Given the description of an element on the screen output the (x, y) to click on. 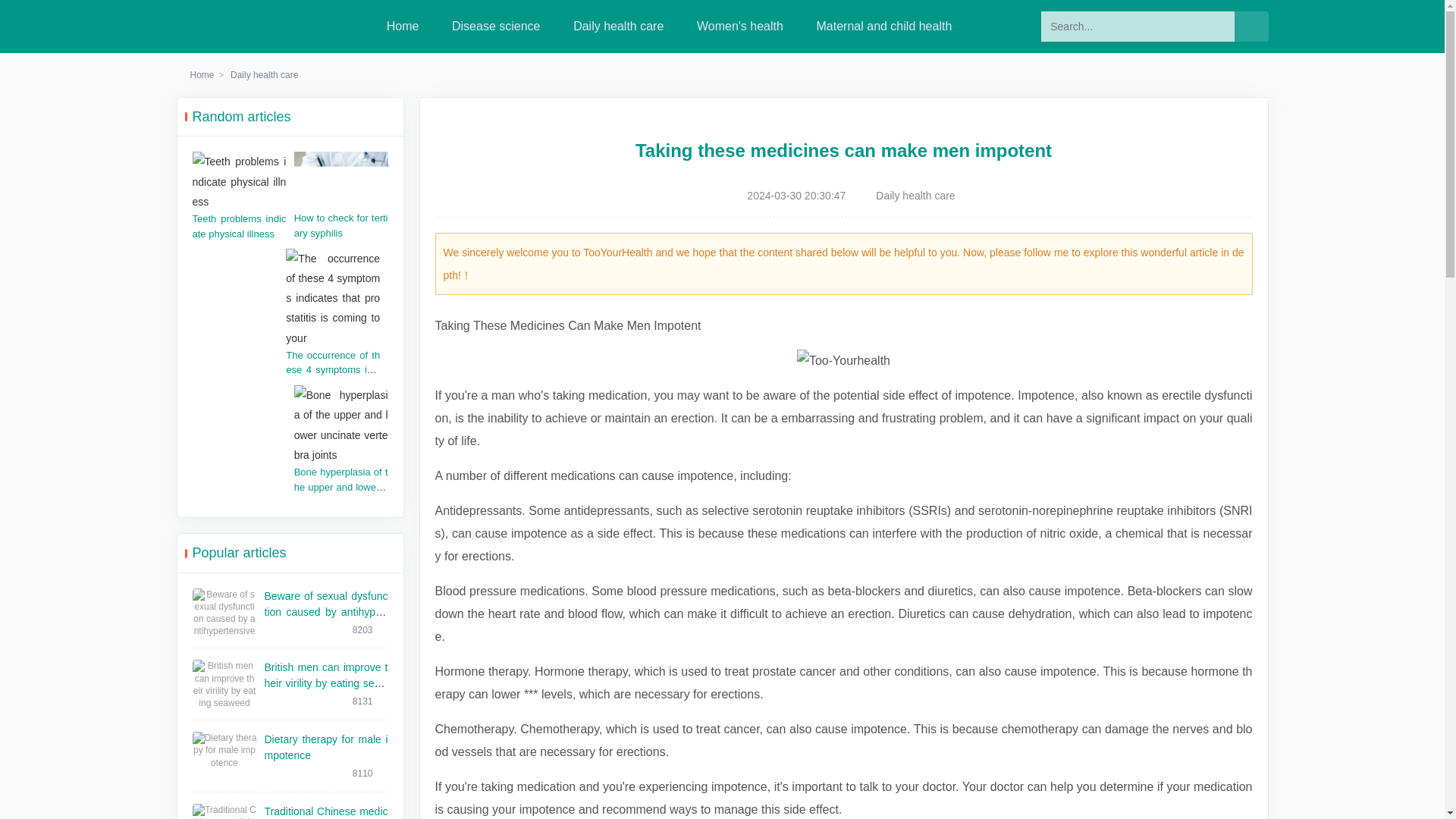
Daily health care (264, 74)
Too Yourhealth (236, 26)
Too Yourhealth (236, 26)
Daily health care (618, 26)
Disease science (495, 26)
Women's health (740, 26)
Disease science (495, 26)
Too-yourhealth Home (403, 26)
